Given the description of an element on the screen output the (x, y) to click on. 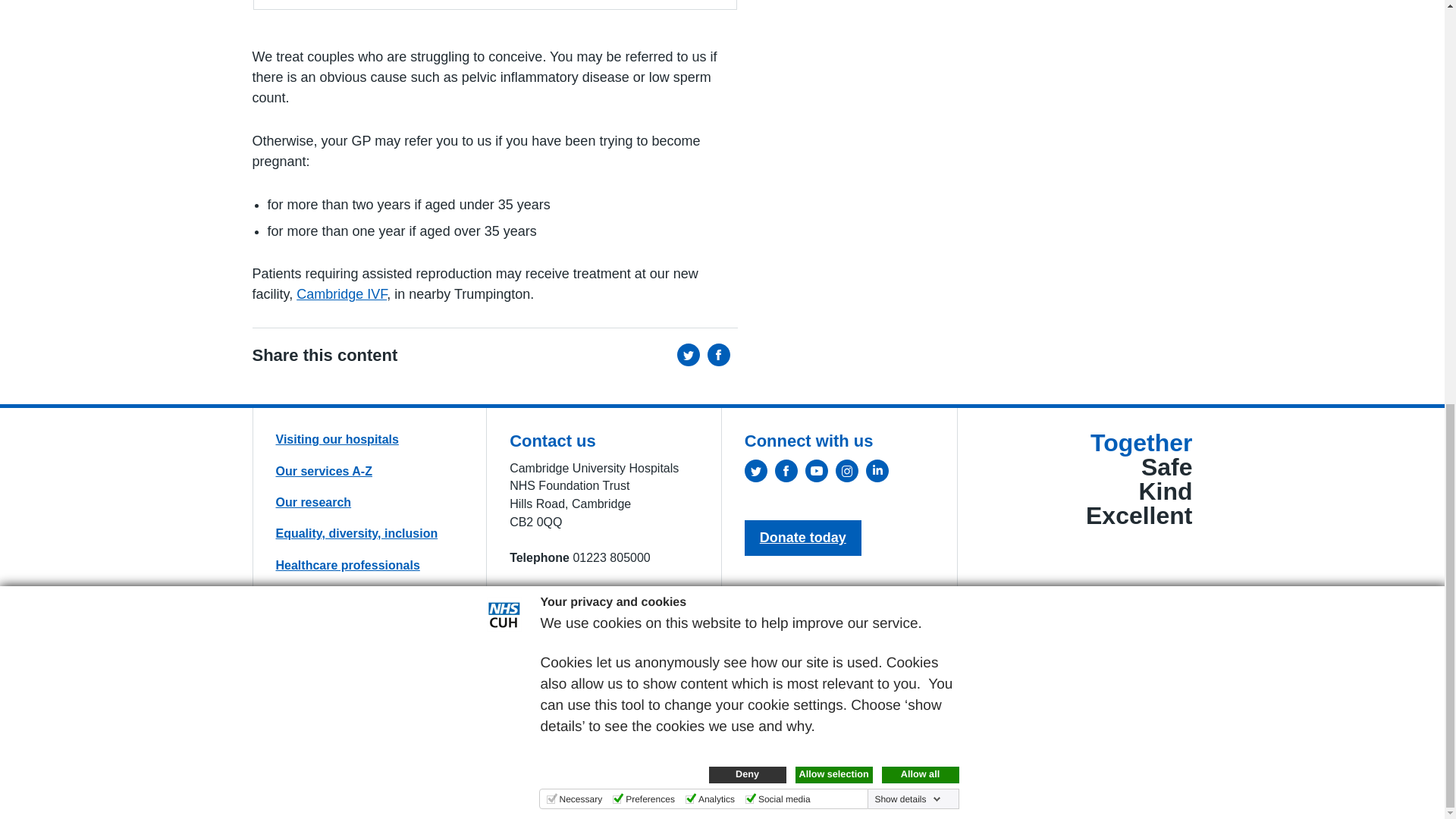
Show details (906, 3)
